Given the description of an element on the screen output the (x, y) to click on. 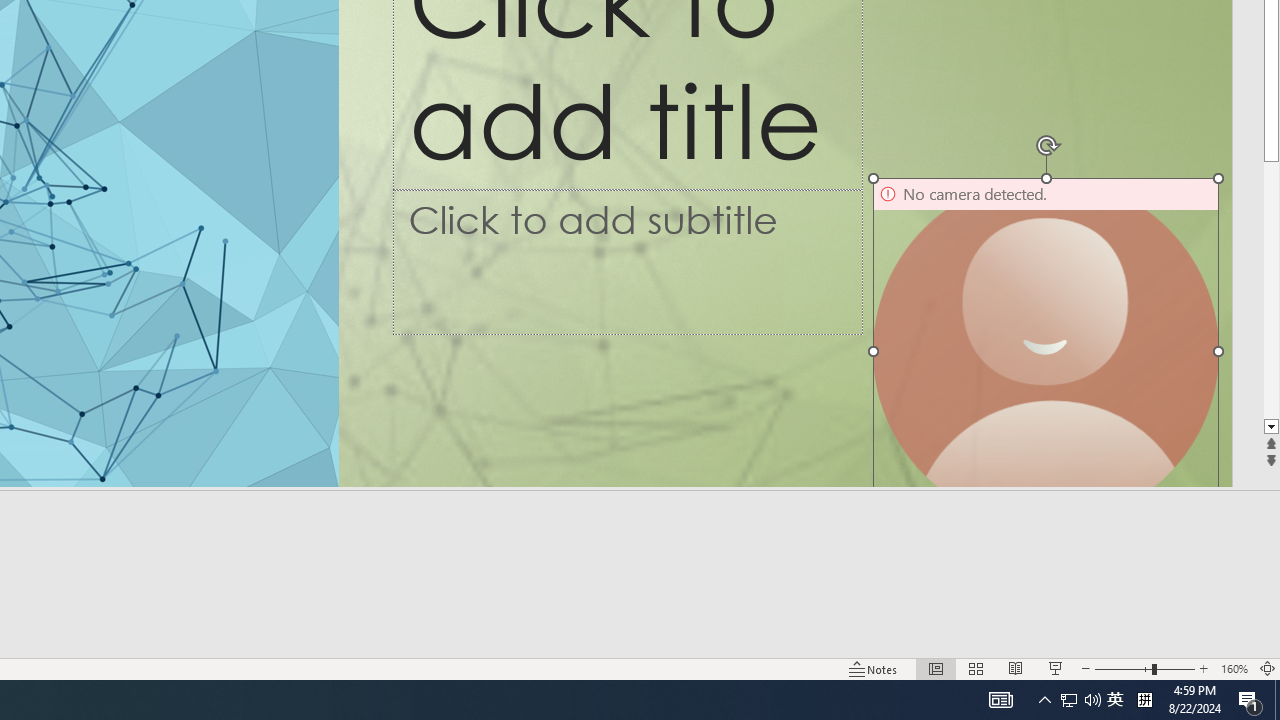
Zoom 160% (1234, 668)
Action Center, 1 new notification (1250, 699)
